Given the description of an element on the screen output the (x, y) to click on. 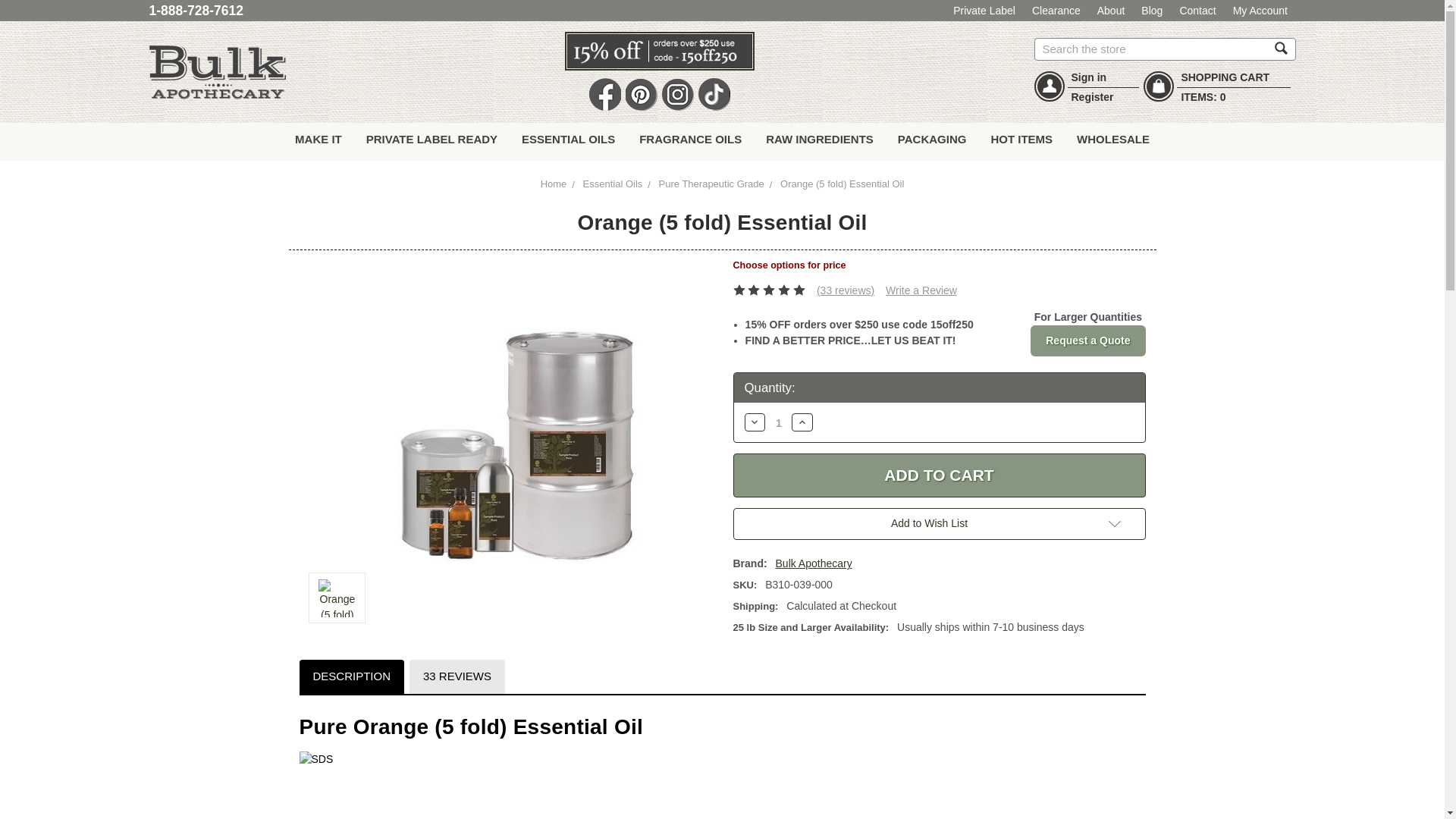
Private Label (984, 10)
My Account (1259, 10)
Contact (1198, 10)
Bulk Apothecary (216, 72)
Add to Cart (938, 475)
1 (778, 422)
submit (1281, 48)
1-888-728-7612 (195, 10)
Register (1091, 96)
TikTok (713, 94)
